Given the description of an element on the screen output the (x, y) to click on. 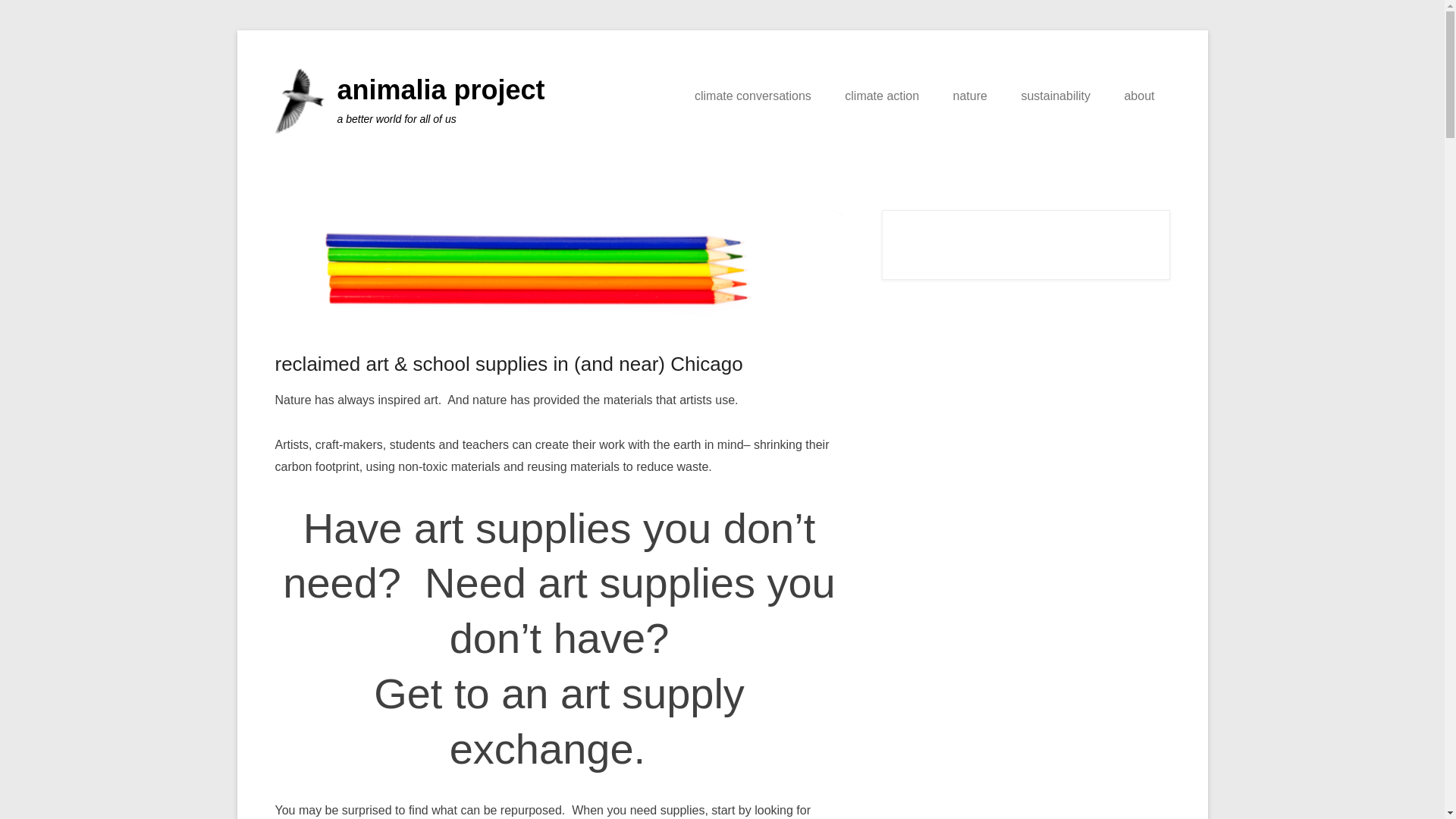
sustainability (1055, 96)
animalia project (440, 89)
nature (970, 96)
about (1138, 96)
animalia project (440, 89)
climate action (881, 96)
climate conversations (753, 96)
